Given the description of an element on the screen output the (x, y) to click on. 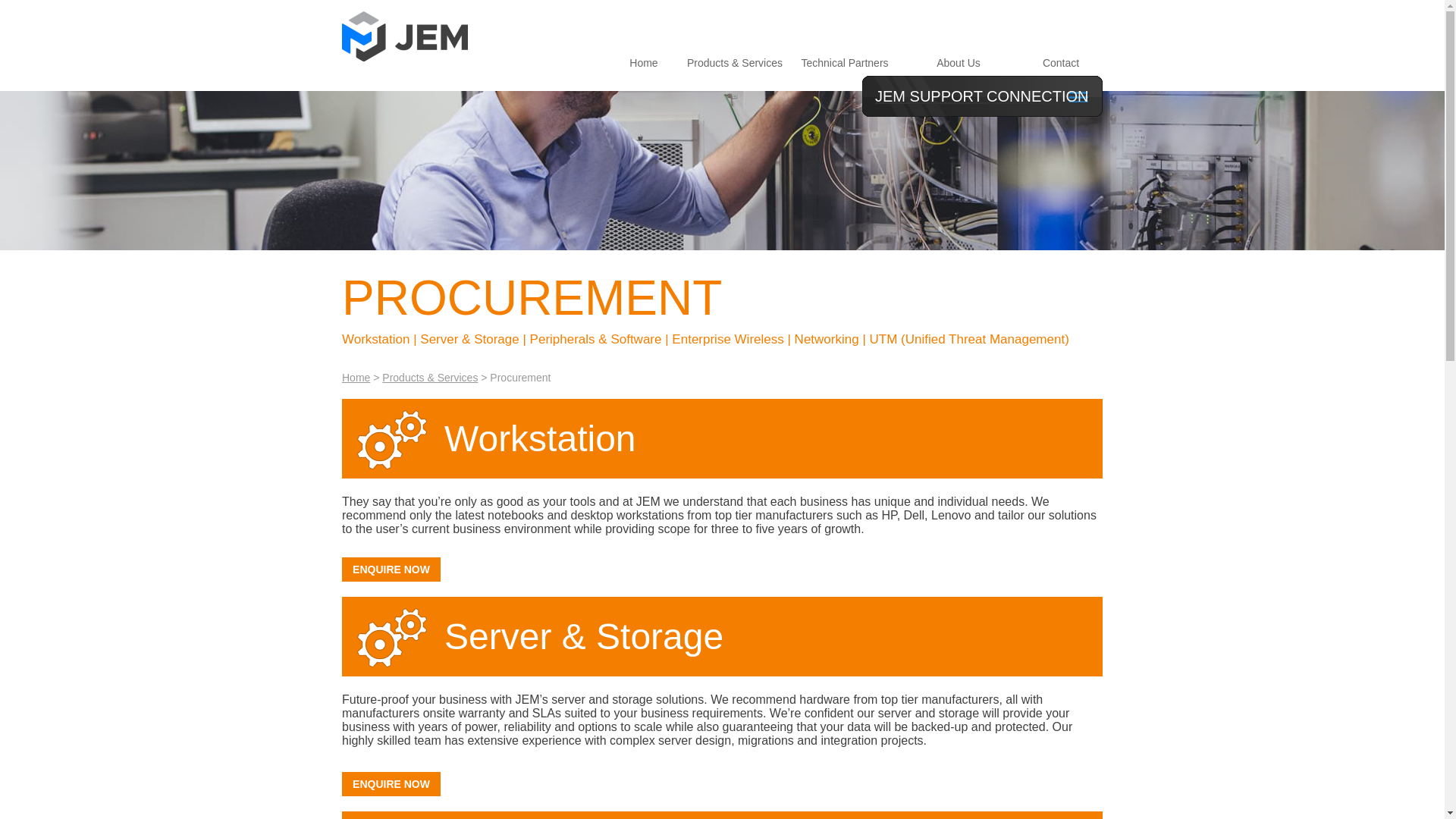
Home Element type: text (356, 377)
Technical Partners Element type: text (844, 62)
Enterprise Wireless Element type: text (727, 339)
Contact Element type: text (1060, 62)
ENQUIRE NOW Element type: text (391, 569)
Home Element type: text (643, 62)
Networking Element type: text (826, 339)
ENQUIRE NOW Element type: text (391, 783)
Workstation Element type: text (375, 339)
UTM (Unified Threat Management) Element type: text (969, 339)
About Us Element type: text (958, 62)
Products & Services Element type: text (429, 377)
Products & Services Element type: text (734, 62)
Peripherals & Software Element type: text (596, 339)
JEM SUPPORT CONNECTION Element type: text (982, 95)
Server & Storage Element type: text (469, 339)
